Given the description of an element on the screen output the (x, y) to click on. 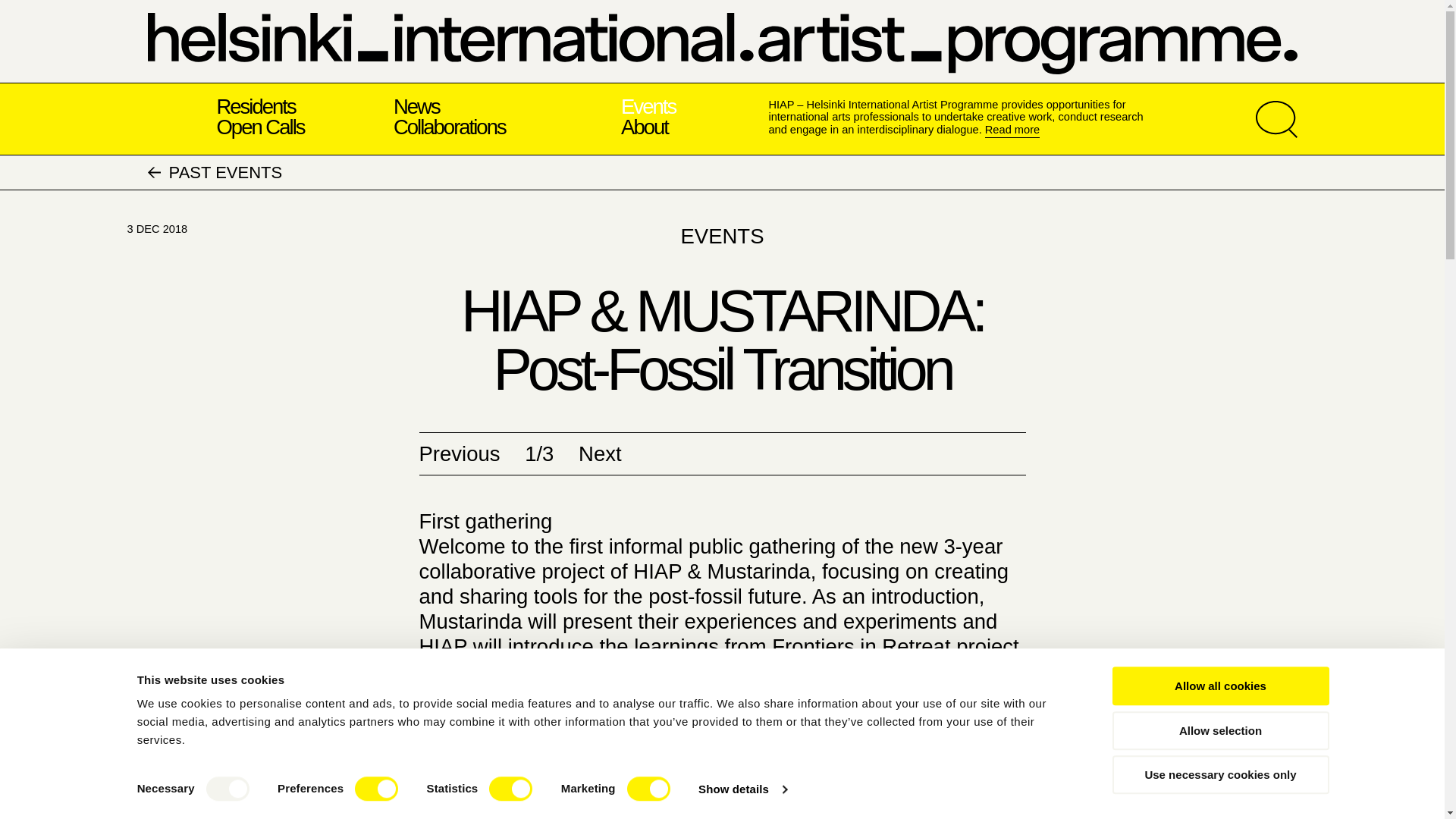
Allow all cookies (1219, 685)
Use necessary cookies only (1219, 774)
News (416, 106)
Show details (742, 789)
Allow selection (1219, 730)
Events (648, 106)
Open Calls (259, 126)
Residents (255, 106)
